Given the description of an element on the screen output the (x, y) to click on. 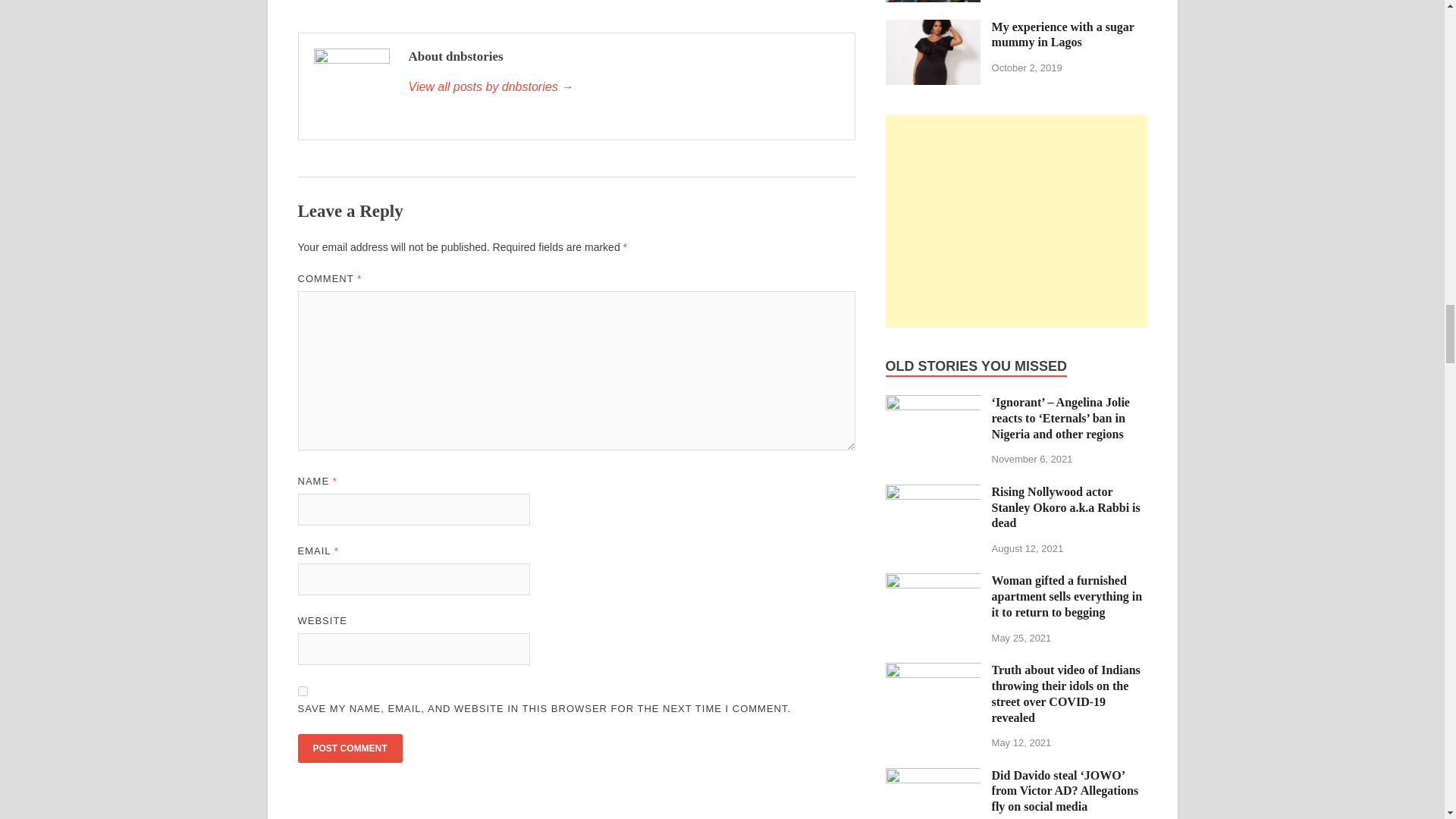
yes (302, 691)
Post Comment (349, 747)
